Given the description of an element on the screen output the (x, y) to click on. 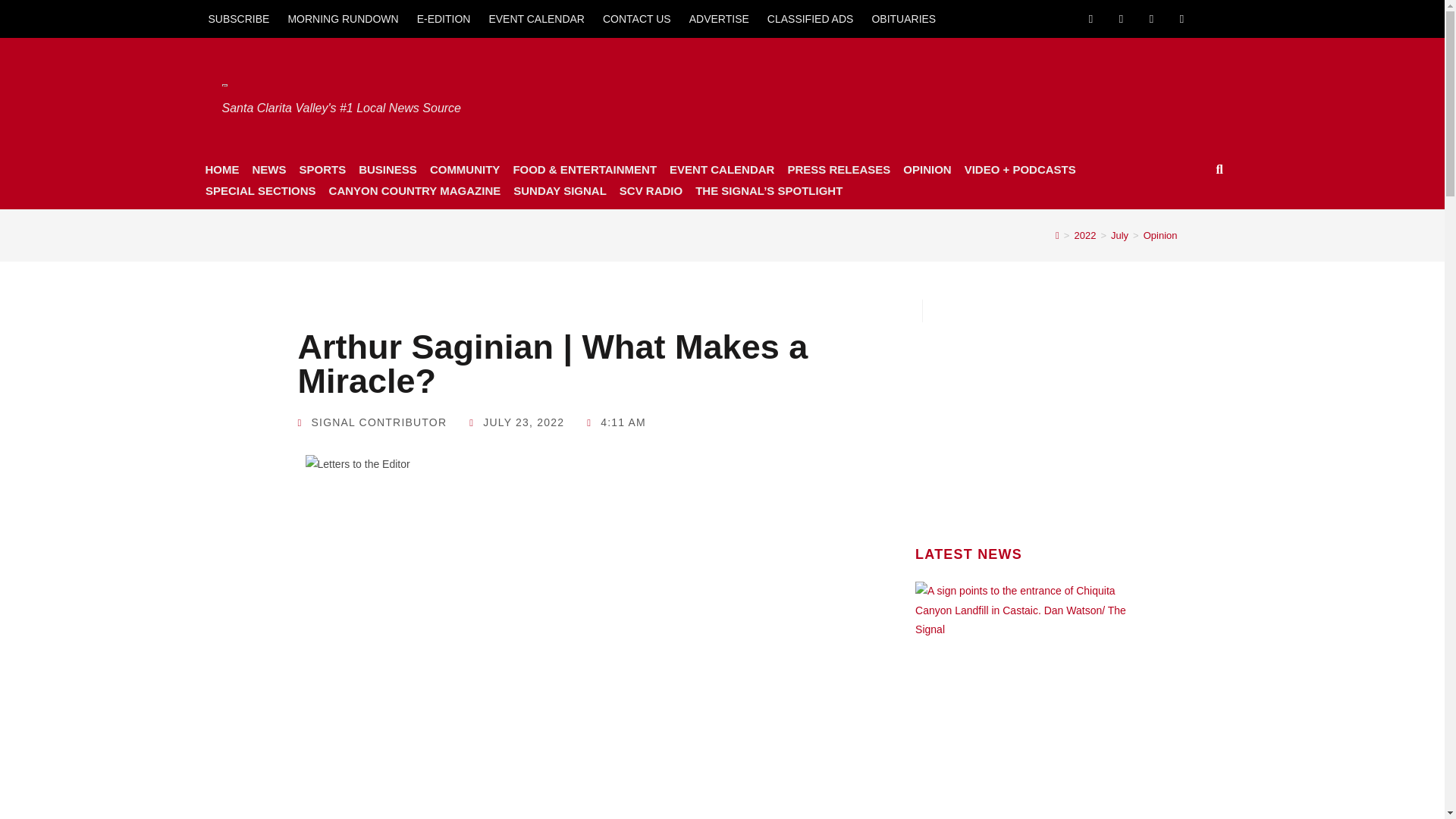
SUBSCRIBE (238, 18)
ADVERTISE (718, 18)
EVENT CALENDAR (536, 18)
OBITUARIES (902, 18)
HOME (221, 169)
MORNING RUNDOWN (342, 18)
CONTACT US (636, 18)
SPORTS (322, 169)
E-EDITION (443, 18)
NEWS (269, 169)
